Given the description of an element on the screen output the (x, y) to click on. 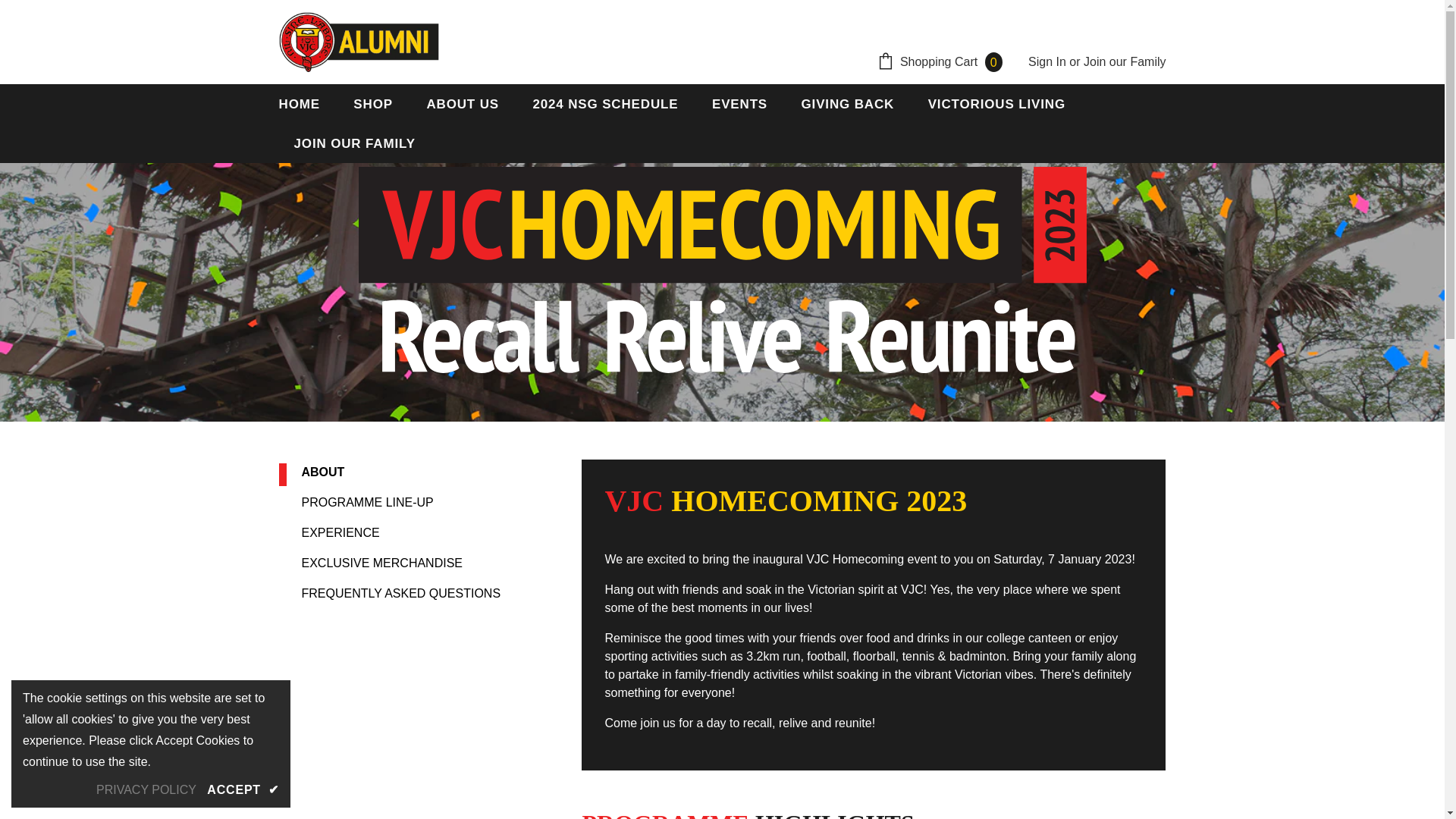
Shopping Cart 0 (943, 63)
Cart (943, 63)
ABOUT US (462, 103)
Logo (359, 42)
GIVING BACK (848, 103)
FREQUENTLY ASKED QUESTIONS (400, 593)
VICTORIOUS LIVING (996, 103)
Sign In (1047, 61)
PROGRAMME LINE-UP (367, 502)
HOME (299, 103)
EXCLUSIVE MERCHANDISE (382, 562)
SHOP (373, 103)
Join our Family (1124, 61)
EVENTS (739, 103)
2024 NSG SCHEDULE (605, 103)
